Given the description of an element on the screen output the (x, y) to click on. 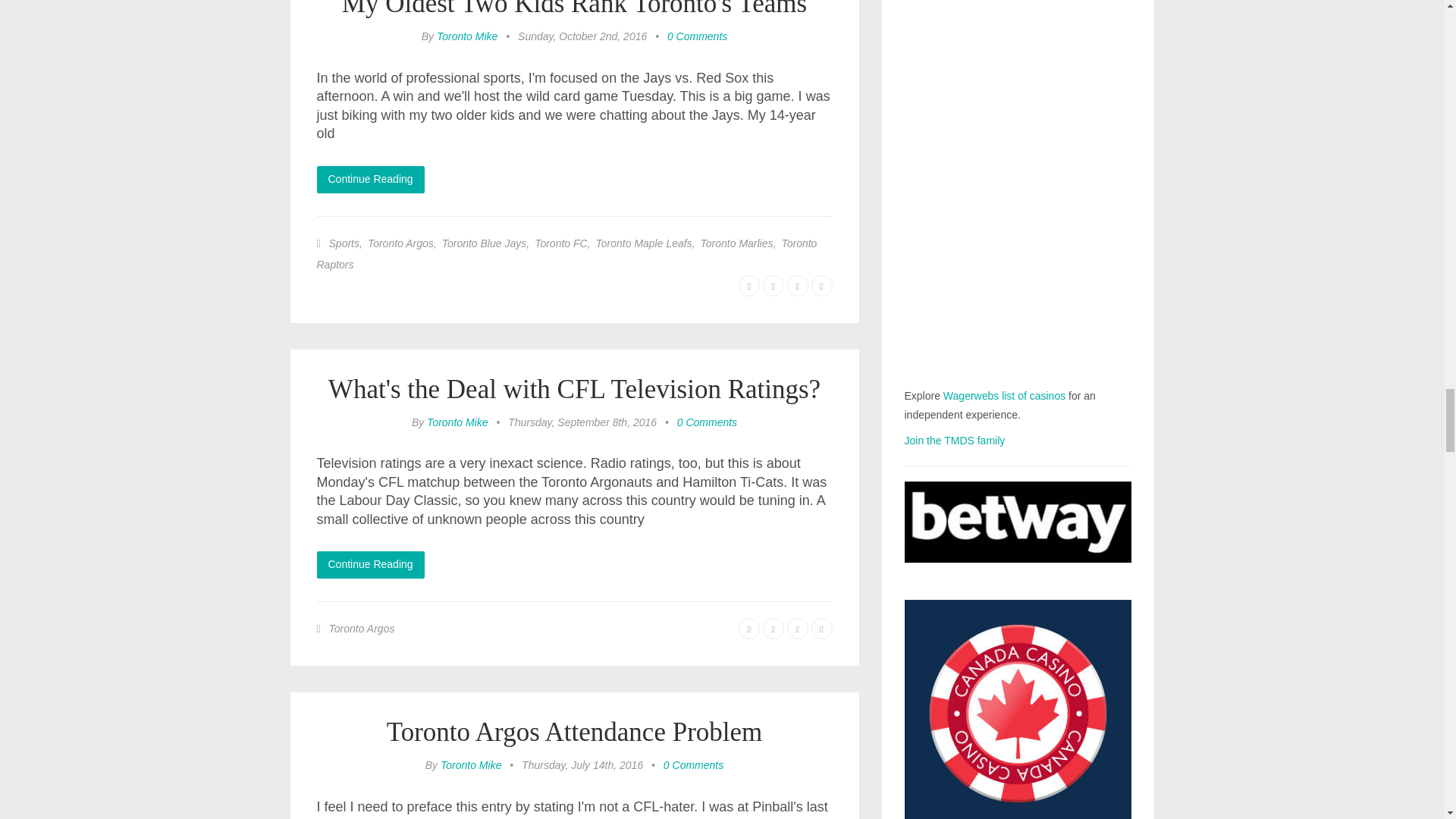
canada casino (1017, 709)
